Given the description of an element on the screen output the (x, y) to click on. 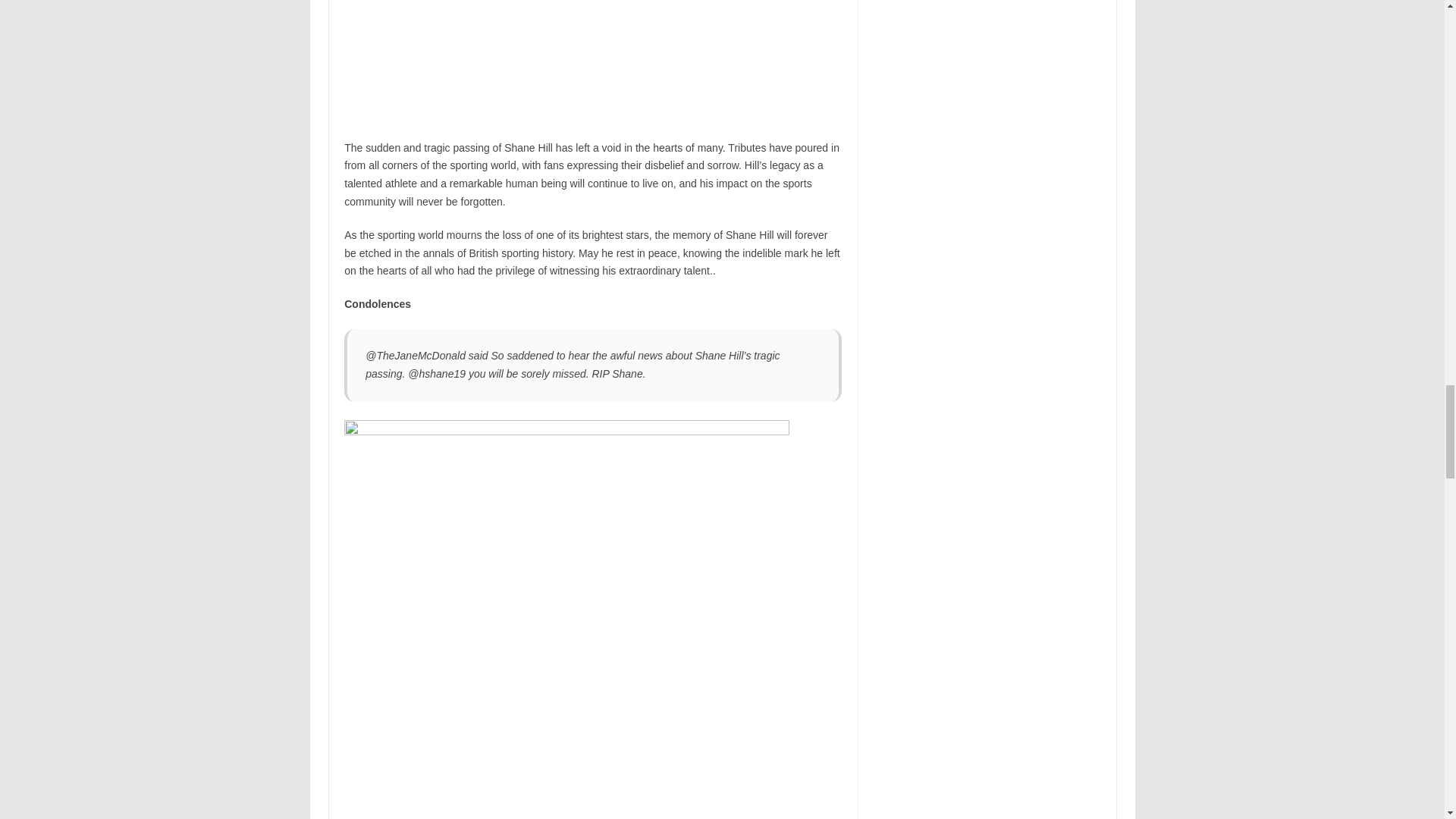
YouTube video player (555, 58)
